Given the description of an element on the screen output the (x, y) to click on. 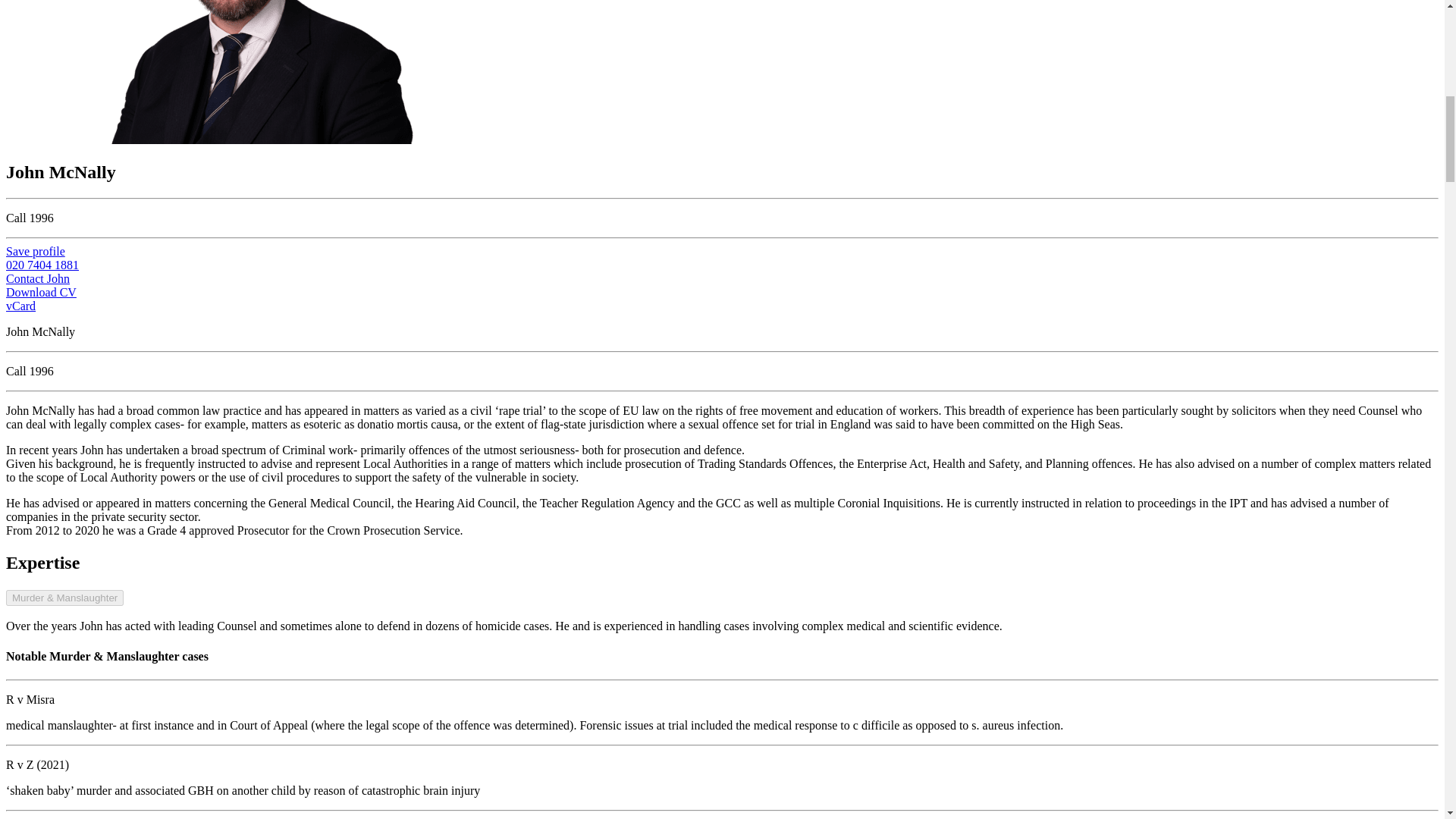
020 7404 1881 (41, 264)
Portfolio (35, 250)
Save profile (35, 250)
